Given the description of an element on the screen output the (x, y) to click on. 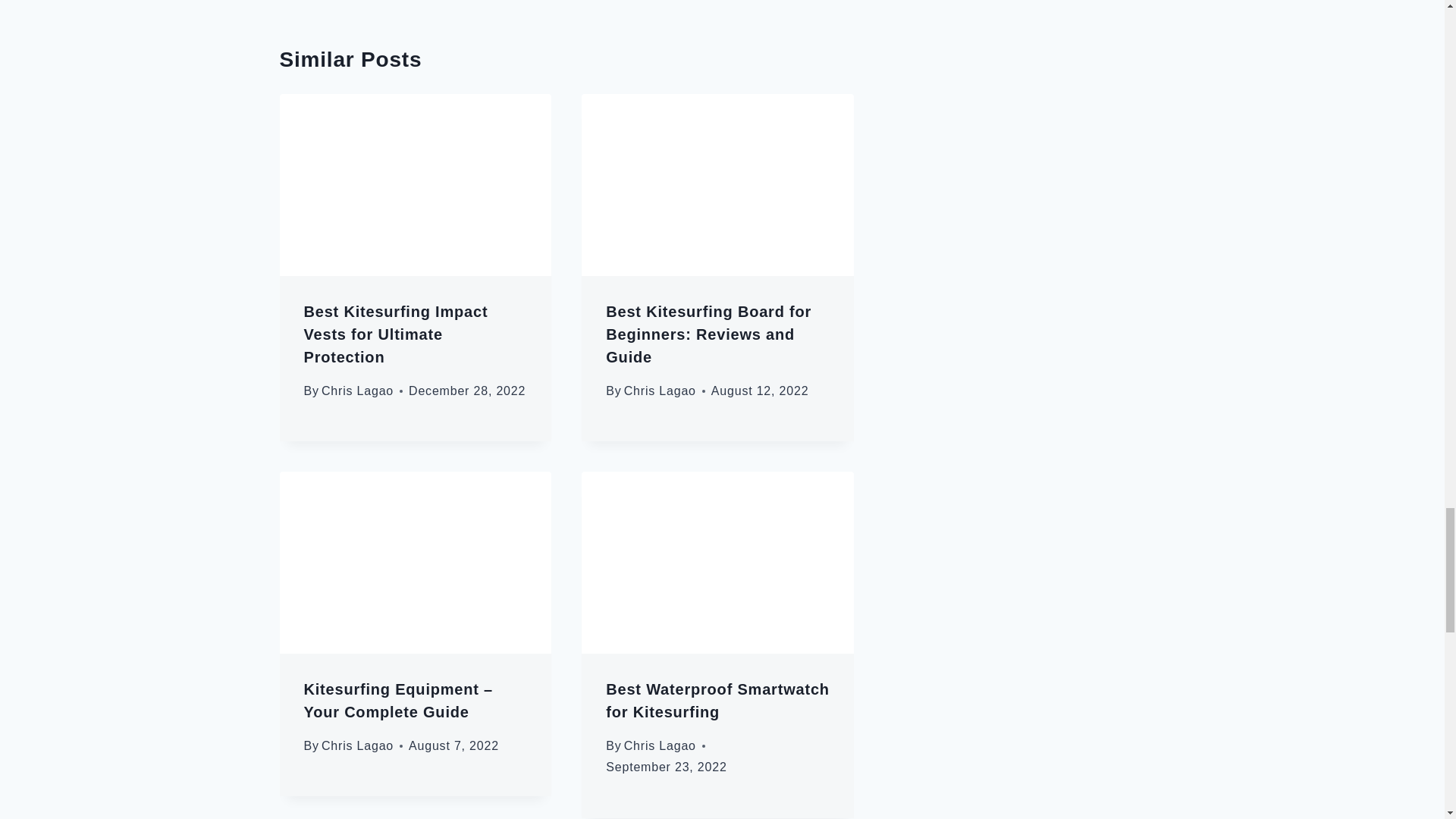
Chris Lagao (357, 745)
Chris Lagao (659, 390)
Best Kitesurfing Board for Beginners: Reviews and Guide (707, 334)
Chris Lagao (357, 390)
Best Kitesurfing Impact Vests for Ultimate Protection (394, 334)
